Given the description of an element on the screen output the (x, y) to click on. 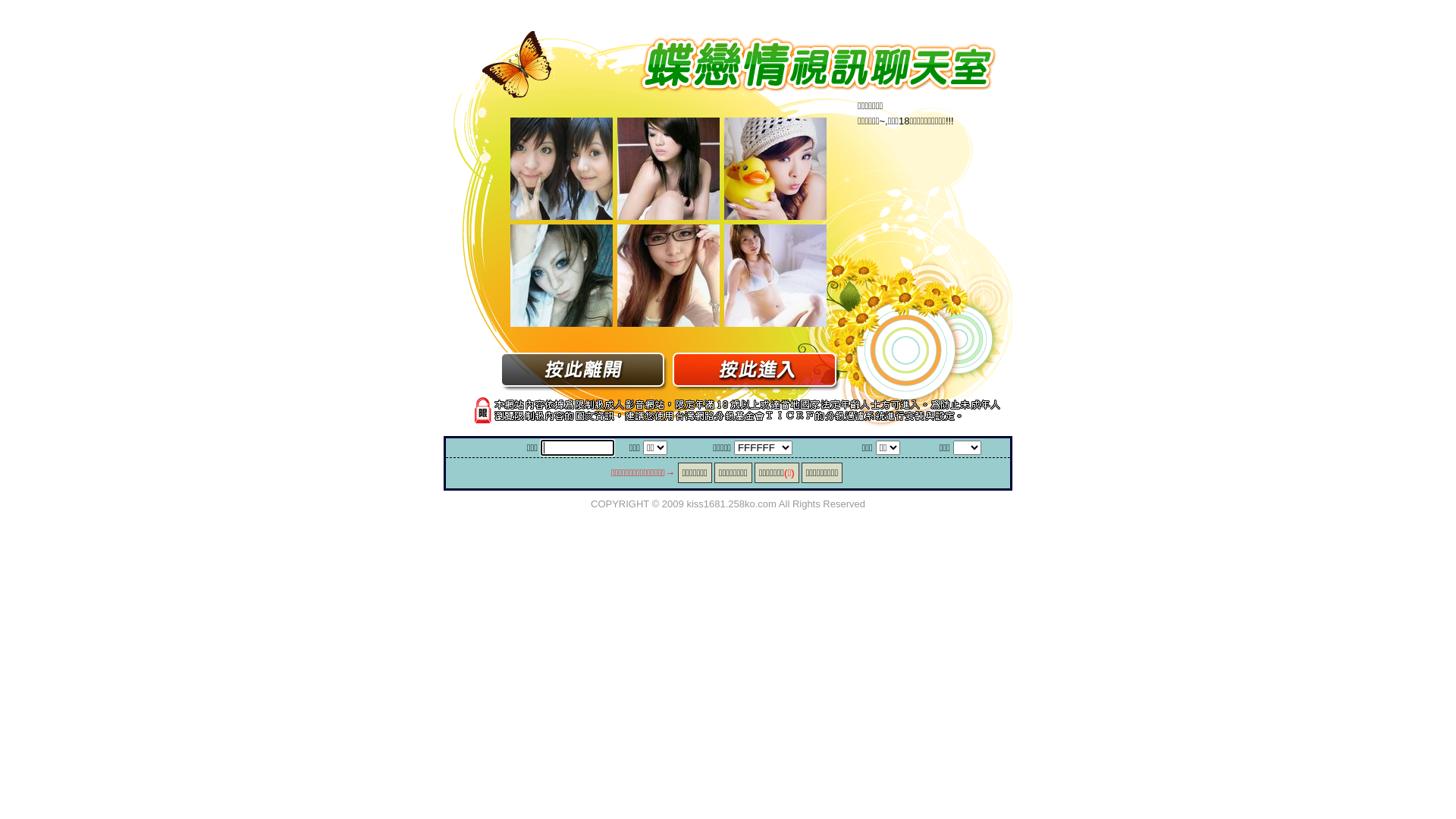
kiss1681.258ko.com Element type: text (731, 502)
